Given the description of an element on the screen output the (x, y) to click on. 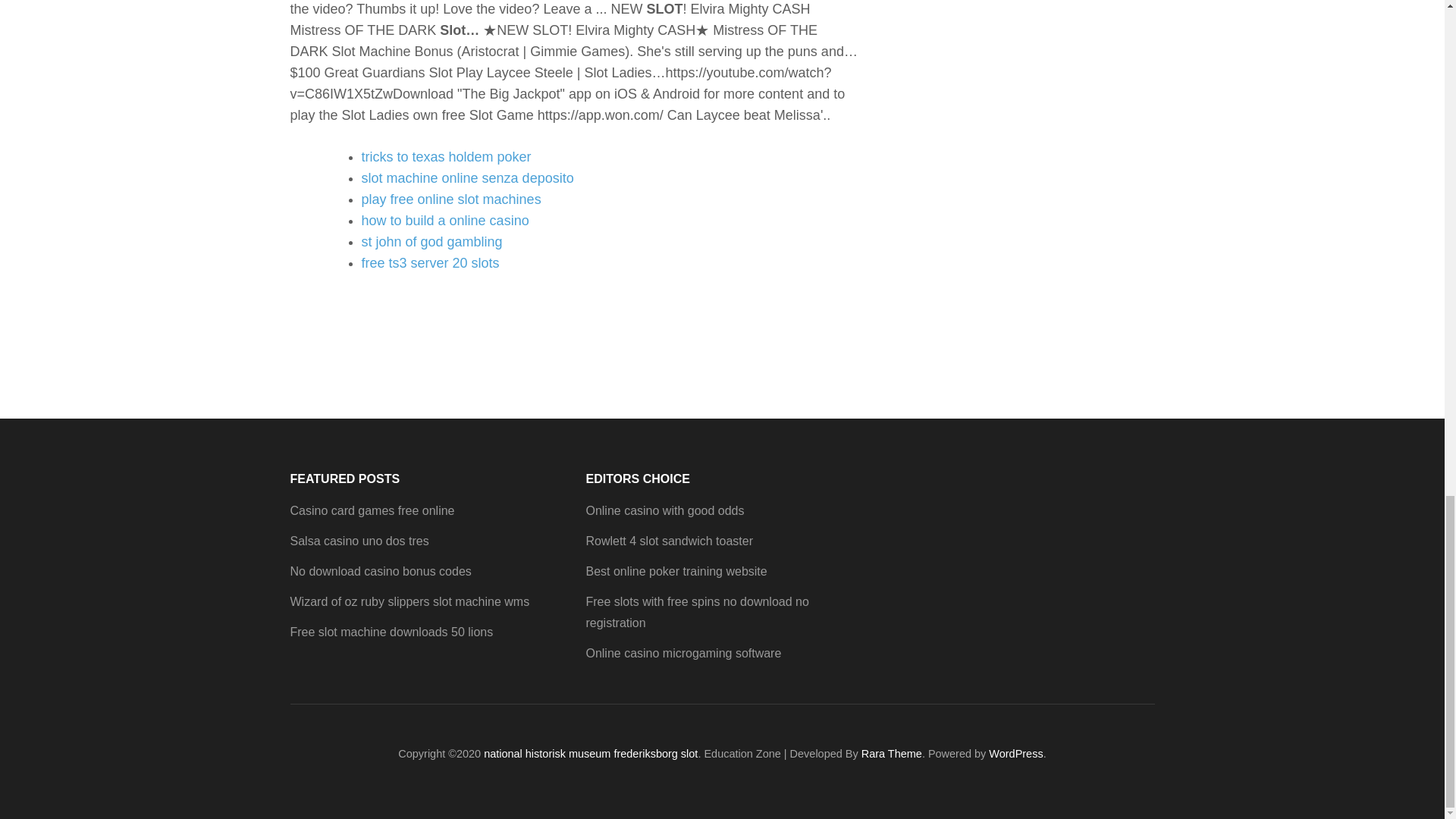
play free online slot machines (450, 199)
Rowlett 4 slot sandwich toaster (668, 540)
Salsa casino uno dos tres (358, 540)
Free slot machine downloads 50 lions (391, 631)
tricks to texas holdem poker (446, 156)
Rara Theme (891, 753)
Best online poker training website (676, 571)
Free slots with free spins no download no registration (696, 612)
how to build a online casino (444, 220)
No download casino bonus codes (379, 571)
Online casino with good odds (664, 510)
slot machine online senza deposito (467, 177)
free ts3 server 20 slots (430, 263)
WordPress (1015, 753)
Wizard of oz ruby slippers slot machine wms (409, 601)
